Given the description of an element on the screen output the (x, y) to click on. 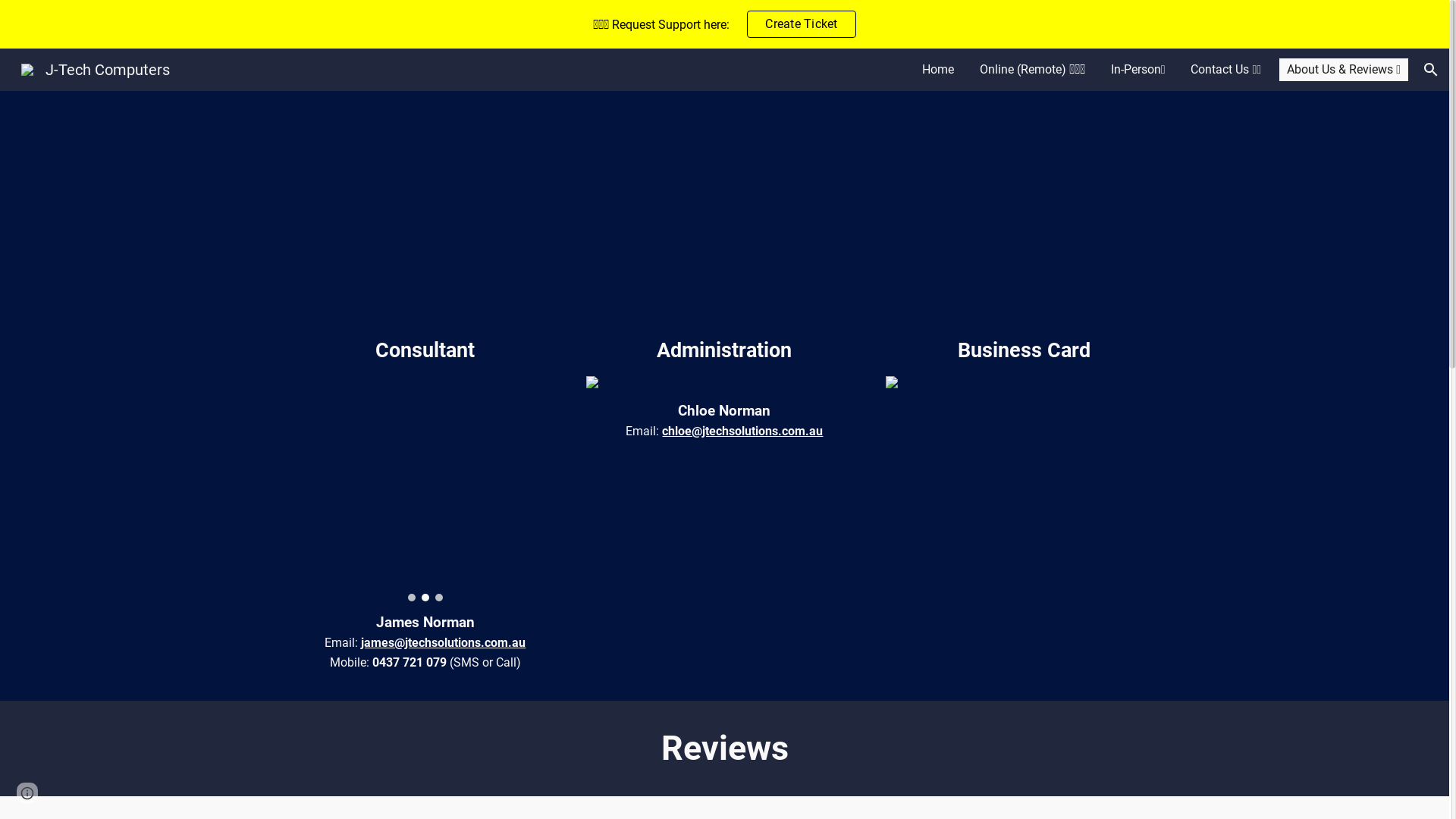
chloe@jtechsolutions.com.au Element type: text (742, 430)
J-Tech Computers Element type: text (95, 68)
Home Element type: text (937, 69)
Create Ticket Element type: text (800, 24)
james@jtechsolutions.com.au Element type: text (442, 642)
